Given the description of an element on the screen output the (x, y) to click on. 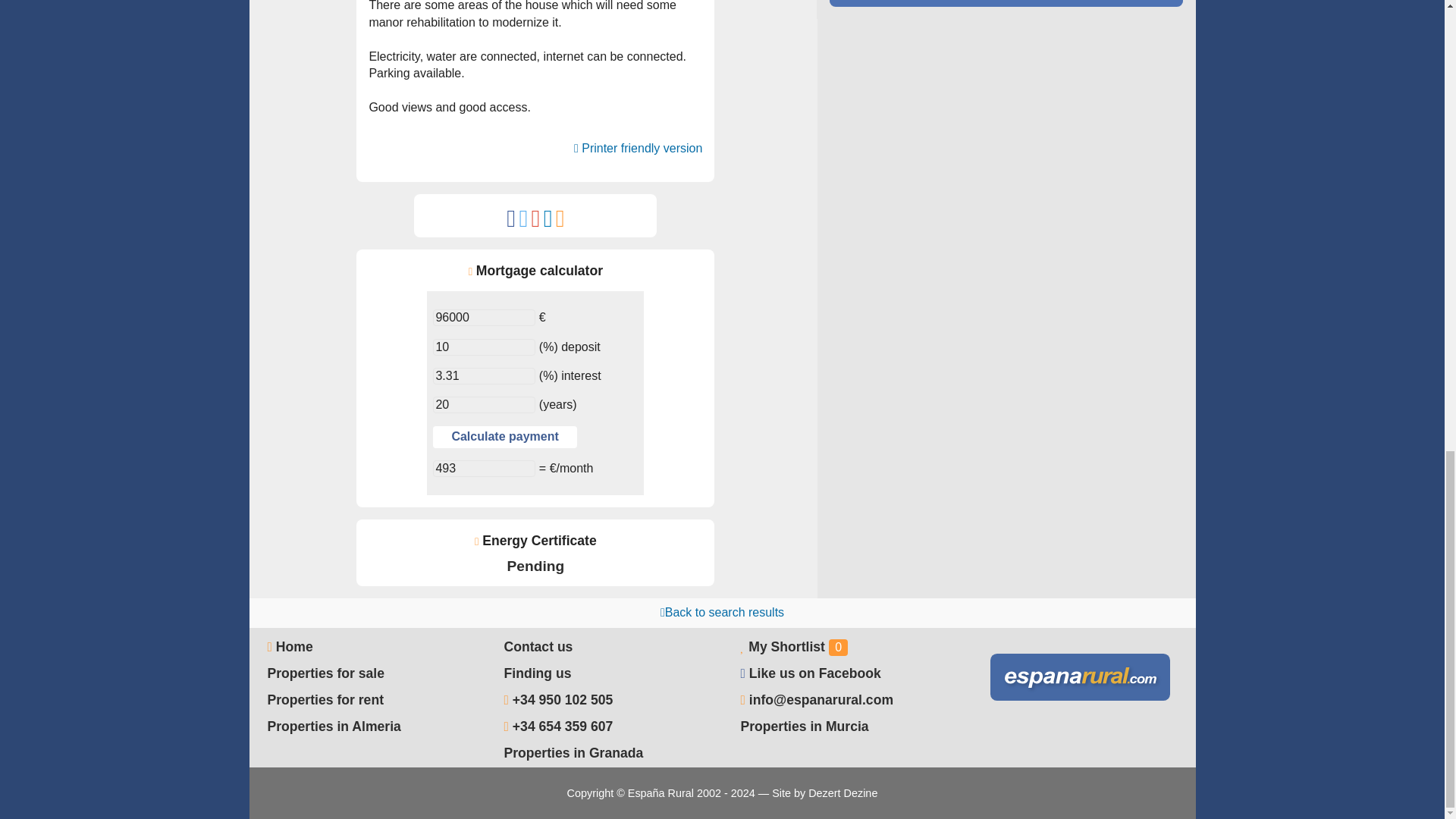
493 (483, 468)
Like us on Facebook (814, 672)
Home (289, 646)
Finding us (536, 672)
My Shortlist (786, 646)
10 (483, 347)
Properties in Granada (573, 752)
Properties in Almeria (333, 726)
Contact us (537, 646)
Properties in Murcia (803, 726)
Properties for sale (325, 672)
96000 (483, 317)
Calculate payment (504, 436)
3.31 (483, 375)
Properties for rent (325, 699)
